Given the description of an element on the screen output the (x, y) to click on. 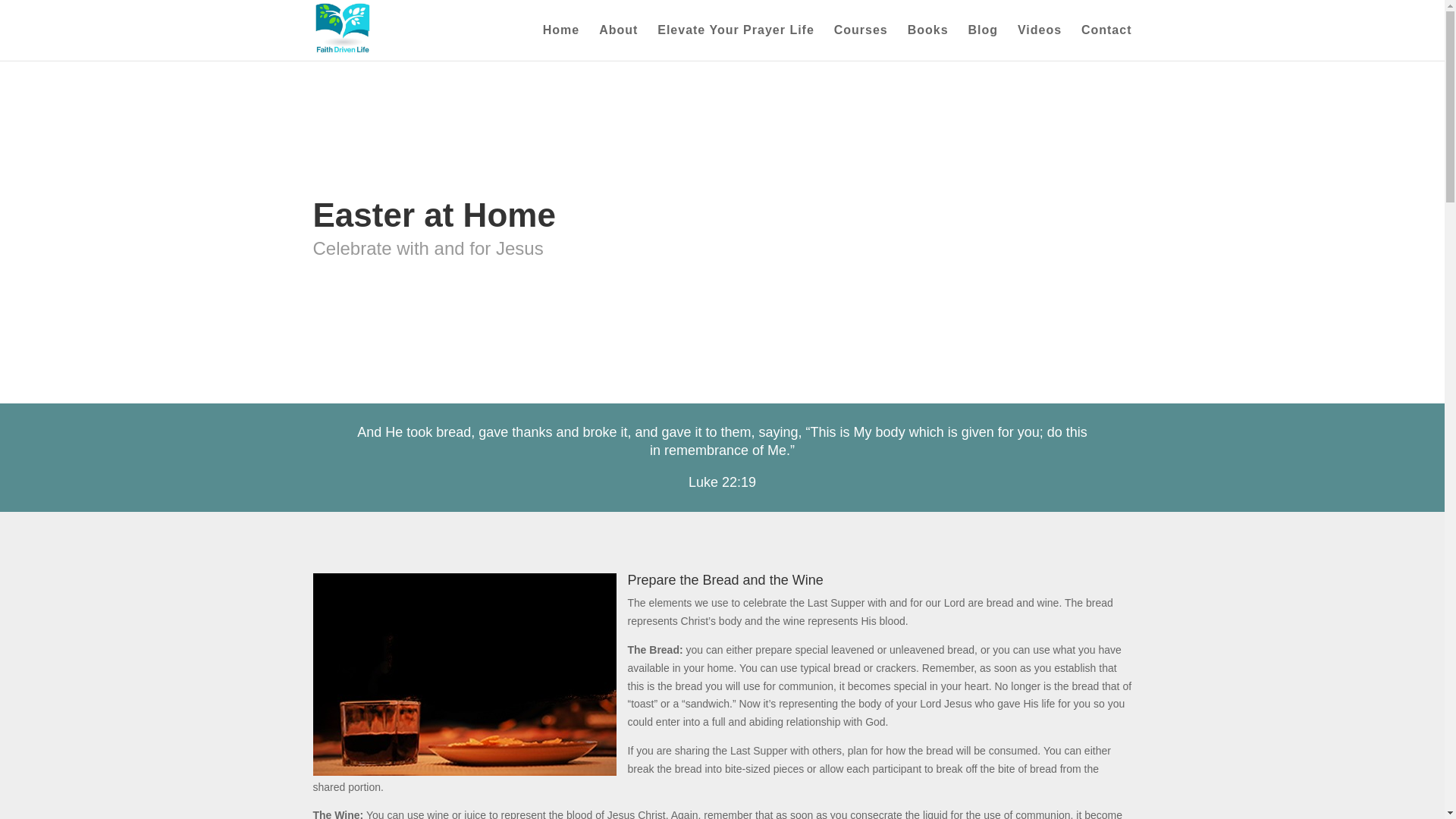
Elevate Your Prayer Life (735, 42)
Videos (1039, 42)
Courses (861, 42)
Books (928, 42)
About (617, 42)
Home (561, 42)
Contact (1106, 42)
